Given the description of an element on the screen output the (x, y) to click on. 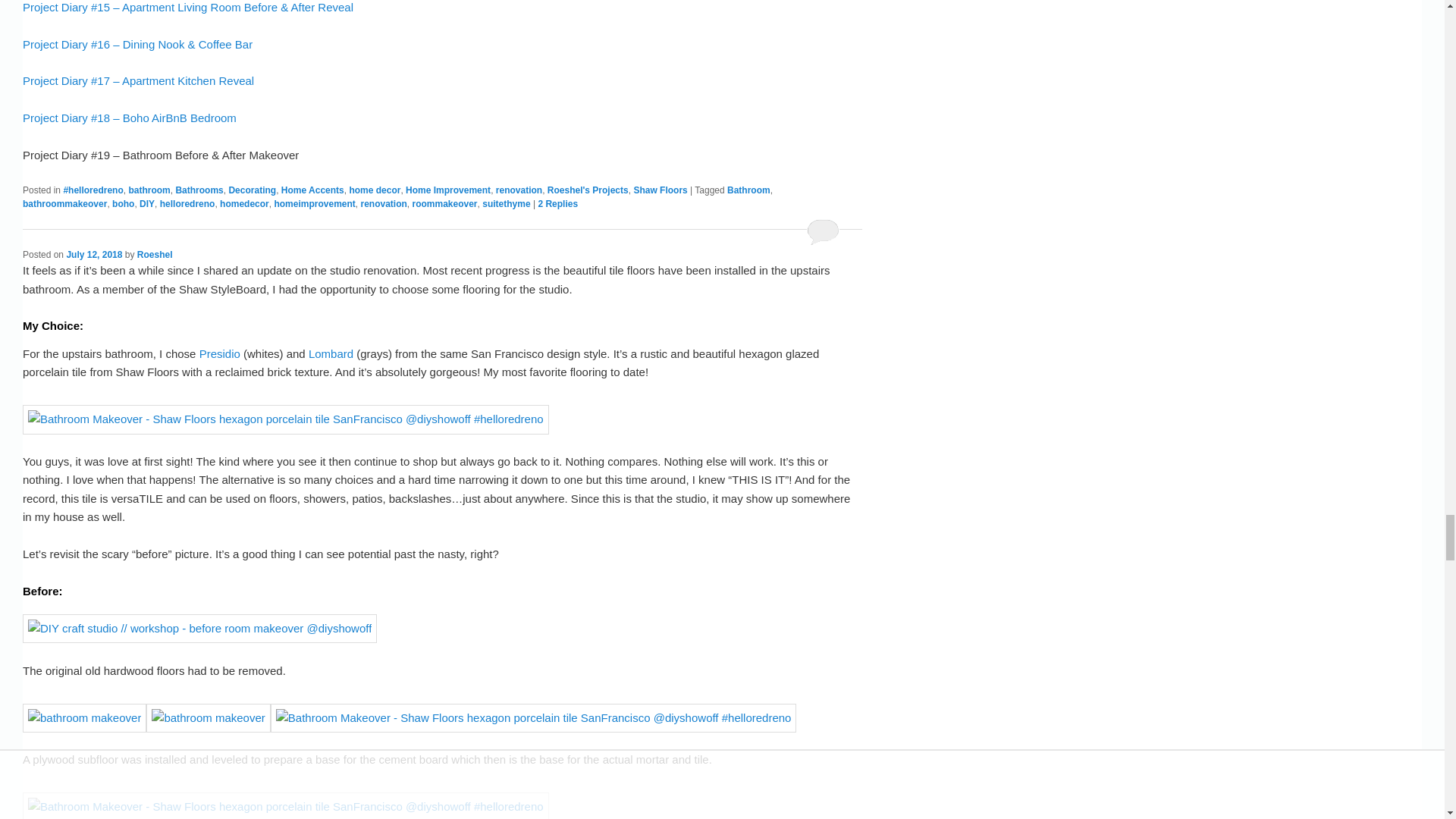
View all posts by Roeshel (154, 254)
Bathroom Makeover Before (200, 628)
6:00 am (93, 254)
